Given the description of an element on the screen output the (x, y) to click on. 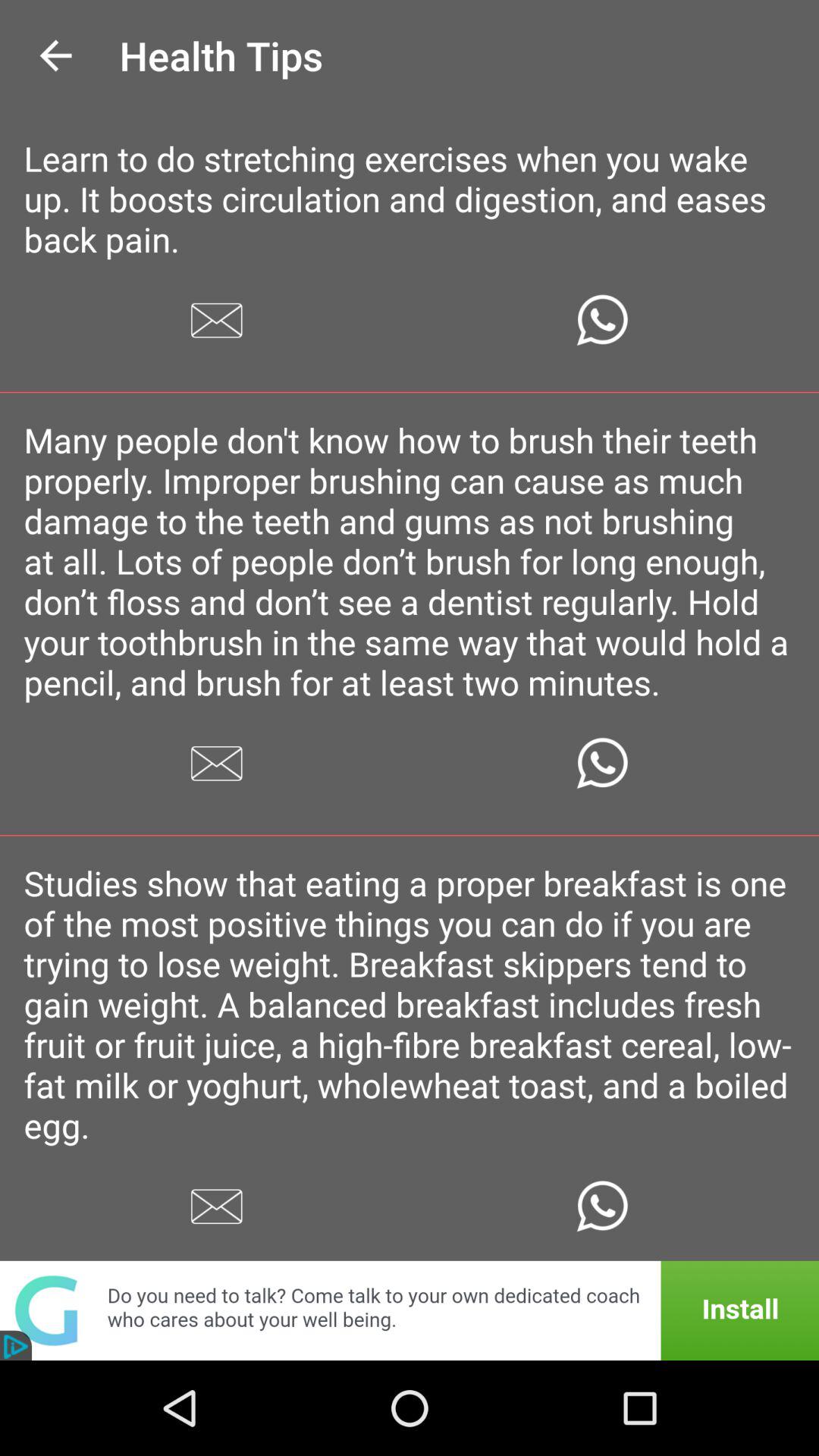
click the studies show that (409, 1003)
